Given the description of an element on the screen output the (x, y) to click on. 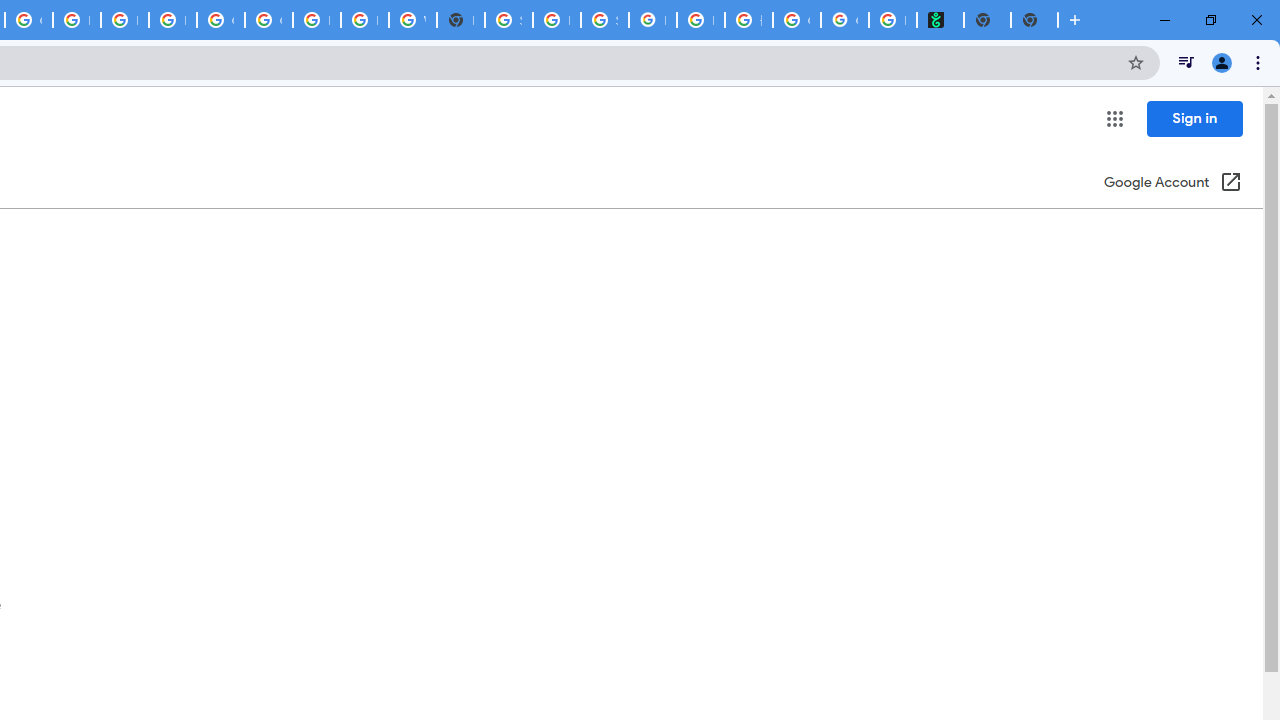
New Tab (460, 20)
New Tab (1034, 20)
Browse Chrome as a guest - Computer - Google Chrome Help (124, 20)
